Given the description of an element on the screen output the (x, y) to click on. 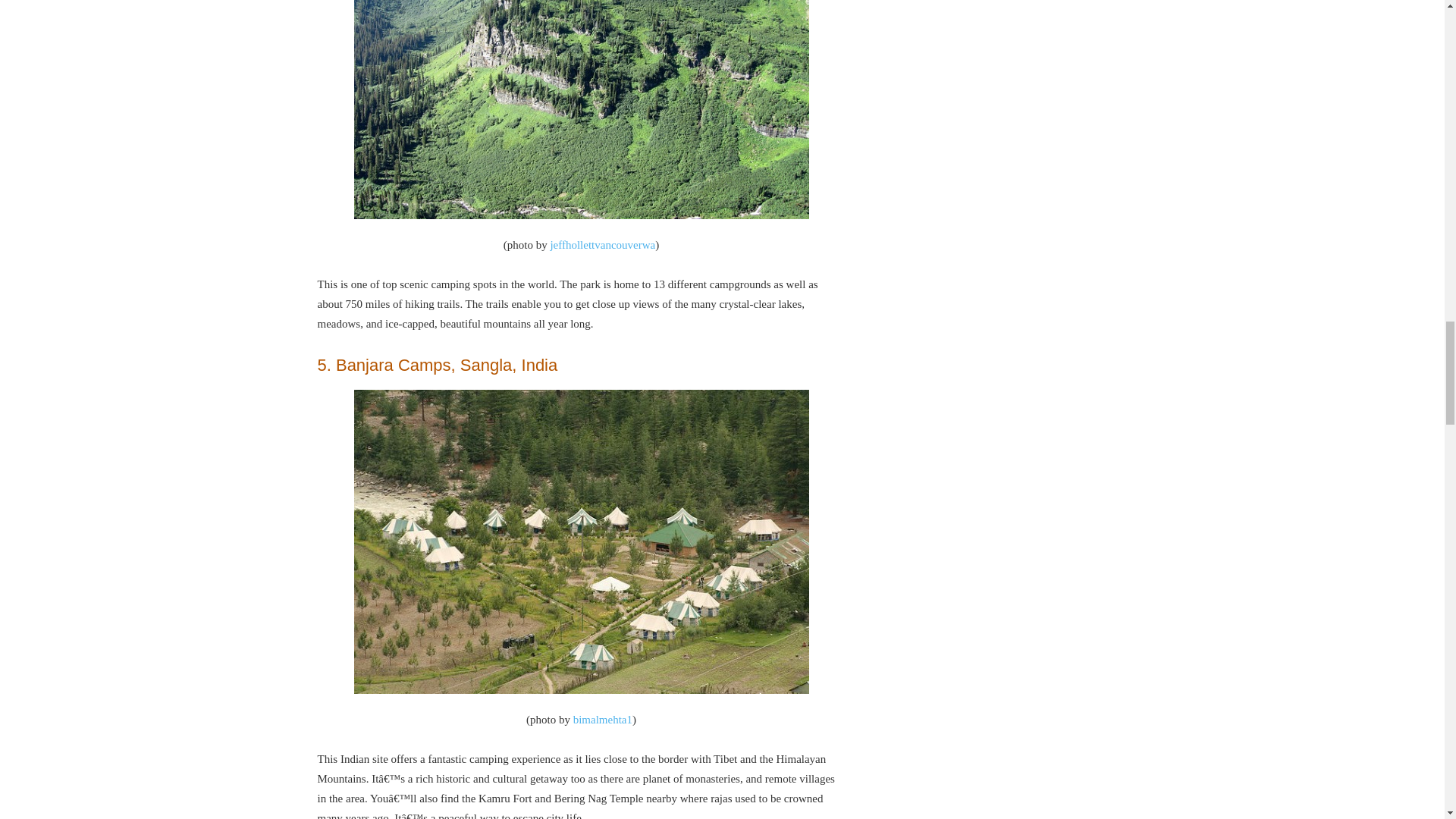
jeffhollettvancouverwa (602, 244)
bimalmehta1 (602, 719)
